Given the description of an element on the screen output the (x, y) to click on. 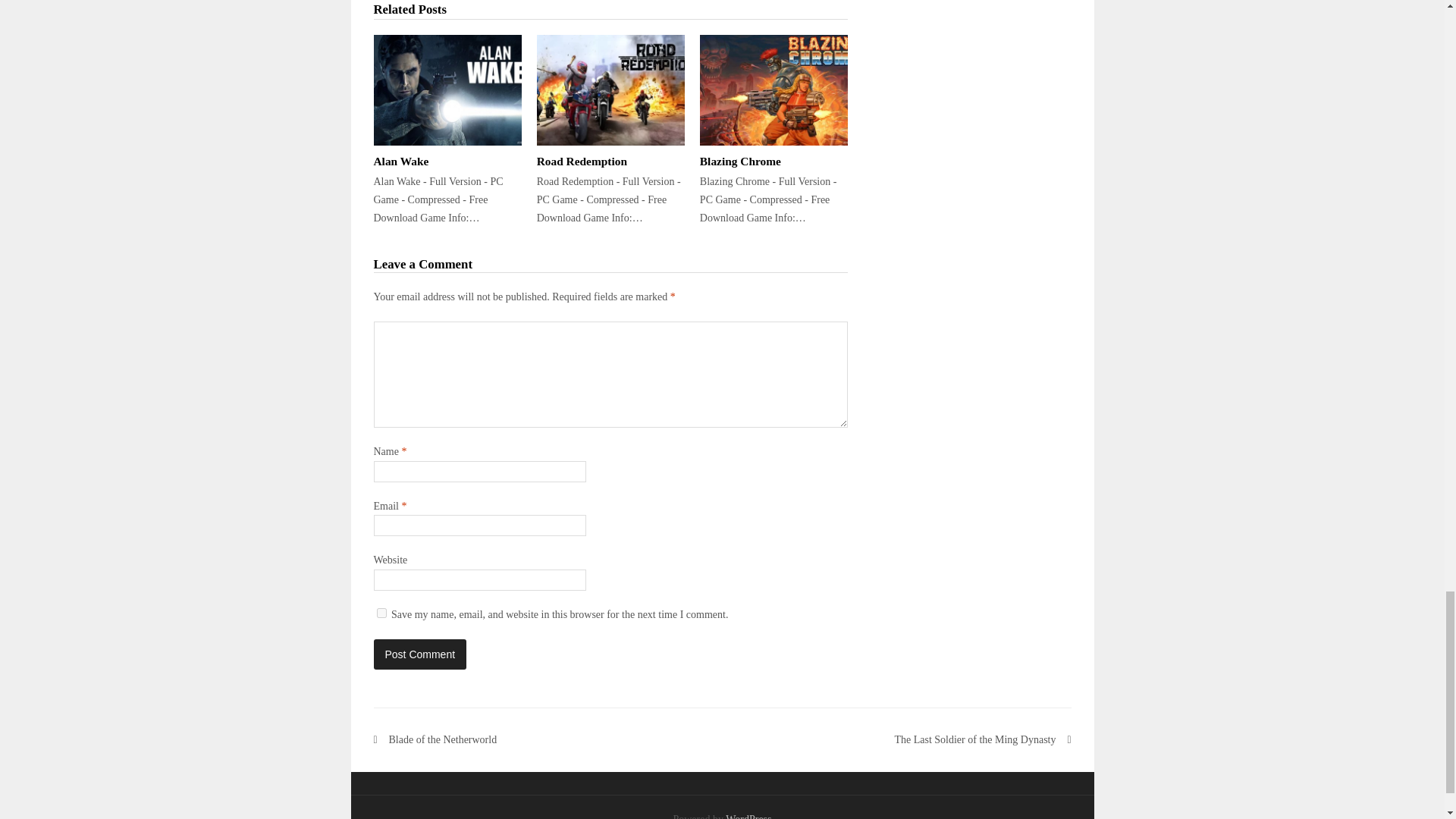
yes (380, 613)
Road Redemption (582, 160)
Road Redemption (582, 160)
Alan Wake (400, 160)
Blazing Chrome (740, 160)
Post Comment (418, 654)
Blazing Chrome (773, 90)
Alan Wake (400, 160)
Blazing Chrome (740, 160)
Road Redemption (610, 90)
